Given the description of an element on the screen output the (x, y) to click on. 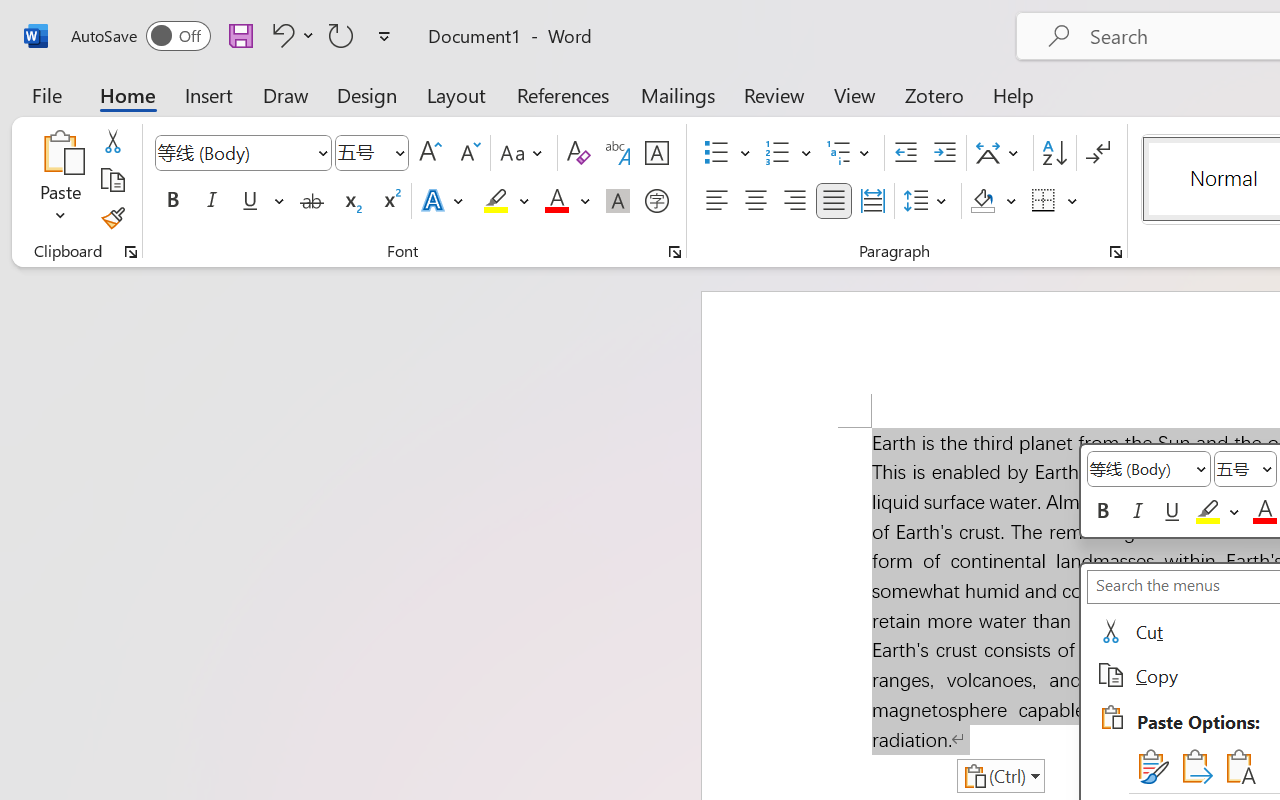
Change Case (524, 153)
Copy (112, 179)
Repeat Paste Option (341, 35)
Superscript (390, 201)
Keep Source Formatting (1150, 766)
Paragraph... (1115, 252)
Asian Layout (1000, 153)
